Given the description of an element on the screen output the (x, y) to click on. 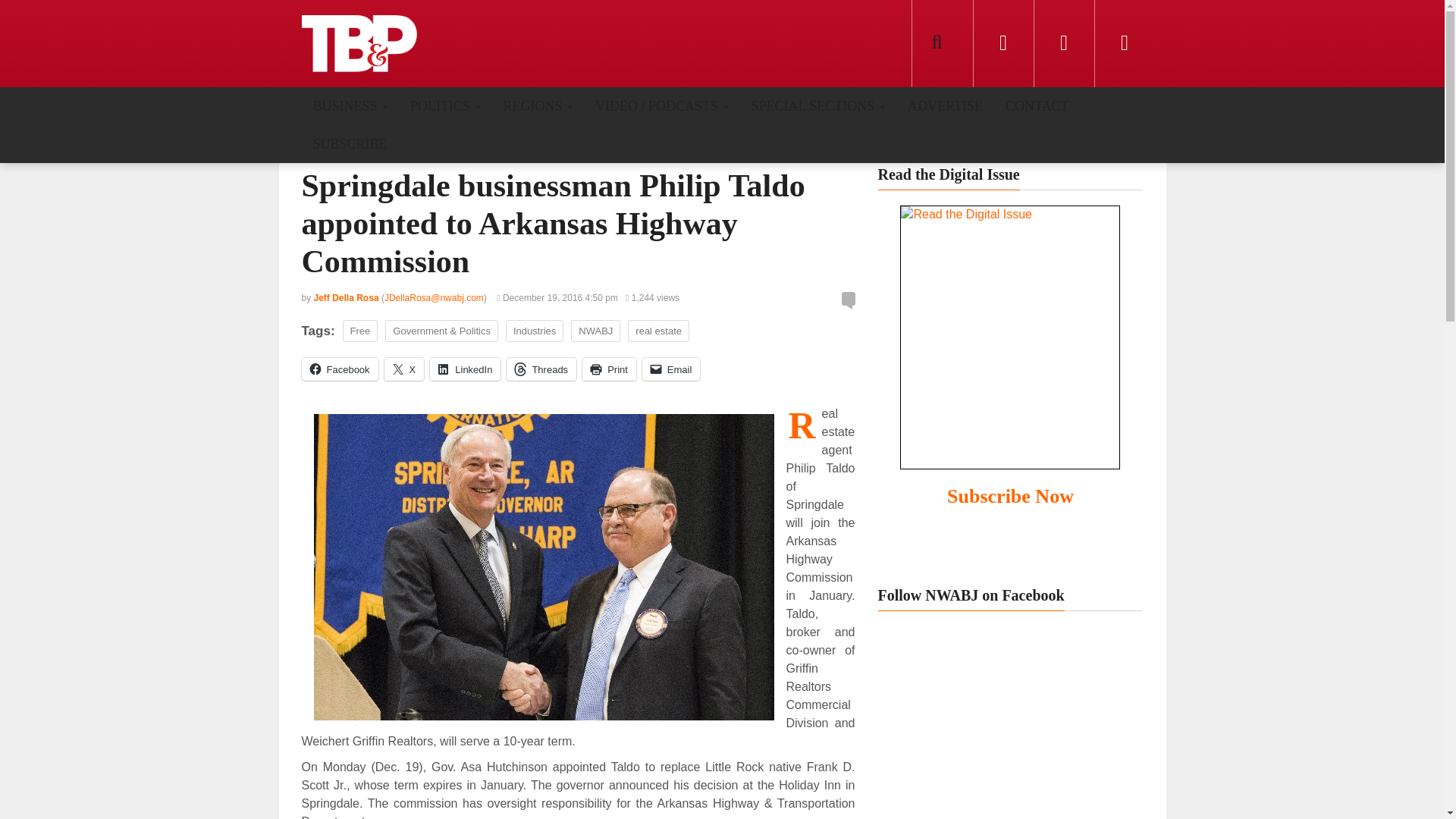
Click to share on Threads (541, 368)
Click to share on X (404, 368)
Click to share on Facebook (339, 368)
Click to print (609, 368)
Click to email a link to a friend (671, 368)
Click to share on LinkedIn (464, 368)
POLITICS (445, 105)
BUSINESS (349, 105)
